Given the description of an element on the screen output the (x, y) to click on. 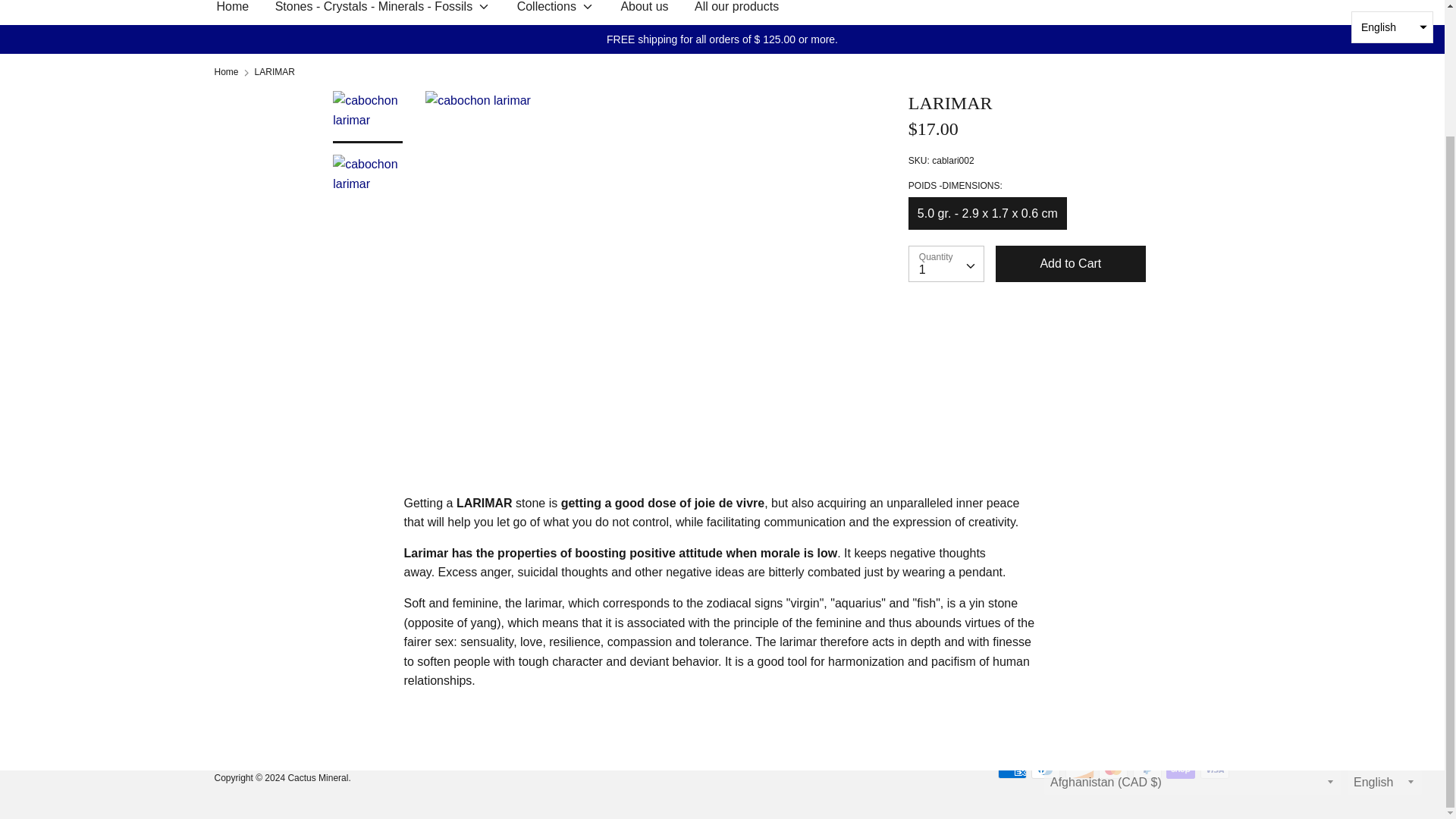
Discover (1079, 617)
Visa (1213, 617)
American Express (1011, 617)
PayPal (1146, 617)
Diners Club (1044, 617)
1 (946, 263)
Mastercard (1112, 617)
Shop Pay (1180, 617)
